Given the description of an element on the screen output the (x, y) to click on. 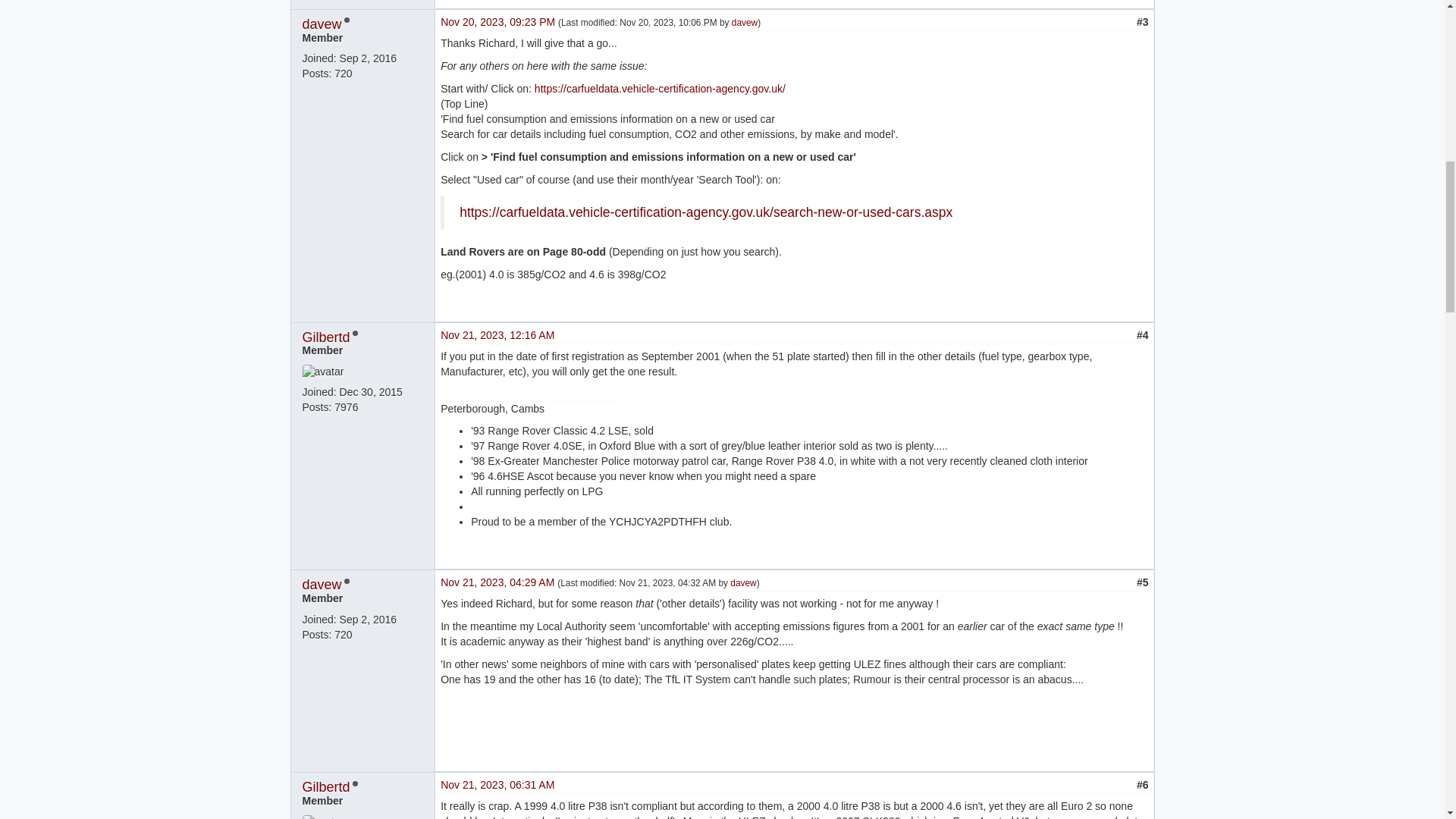
Nov 21, 2023, 04:29 AM (499, 582)
Nov 21, 2023, 06:31 AM (497, 784)
davew (320, 23)
Gilbertd (325, 337)
Nov 20, 2023, 09:23 PM (499, 21)
Gilbertd (325, 786)
Nov 21, 2023, 12:16 AM (497, 335)
davew (320, 584)
davew (742, 583)
davew (744, 22)
